Given the description of an element on the screen output the (x, y) to click on. 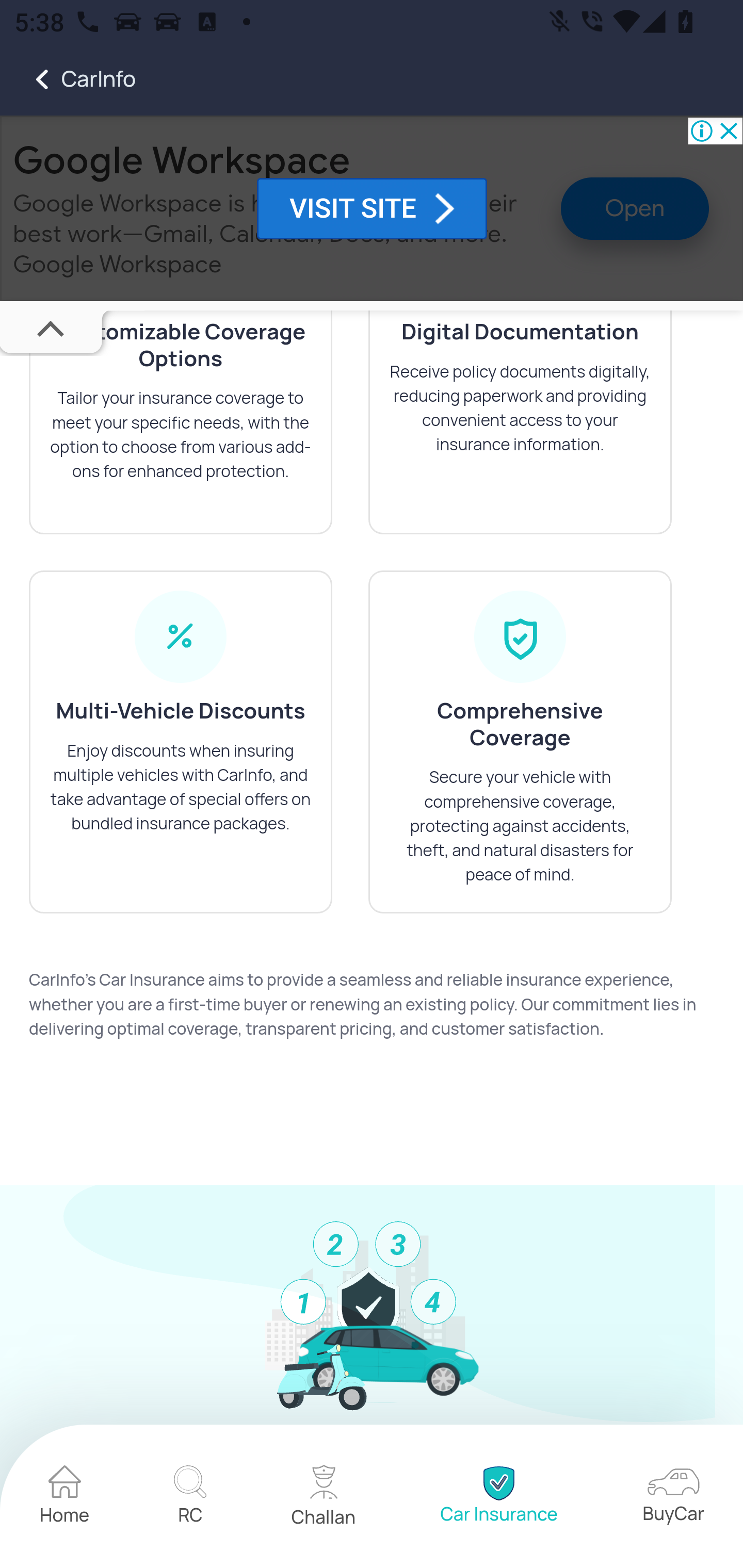
CarInfo (67, 79)
VISIT SITE (371, 209)
home Challan home Challan (323, 1497)
home Home home Home (64, 1498)
home RC home RC (190, 1498)
home Car Insurance home Car Insurance (497, 1498)
home BuyCar home BuyCar (672, 1497)
